Given the description of an element on the screen output the (x, y) to click on. 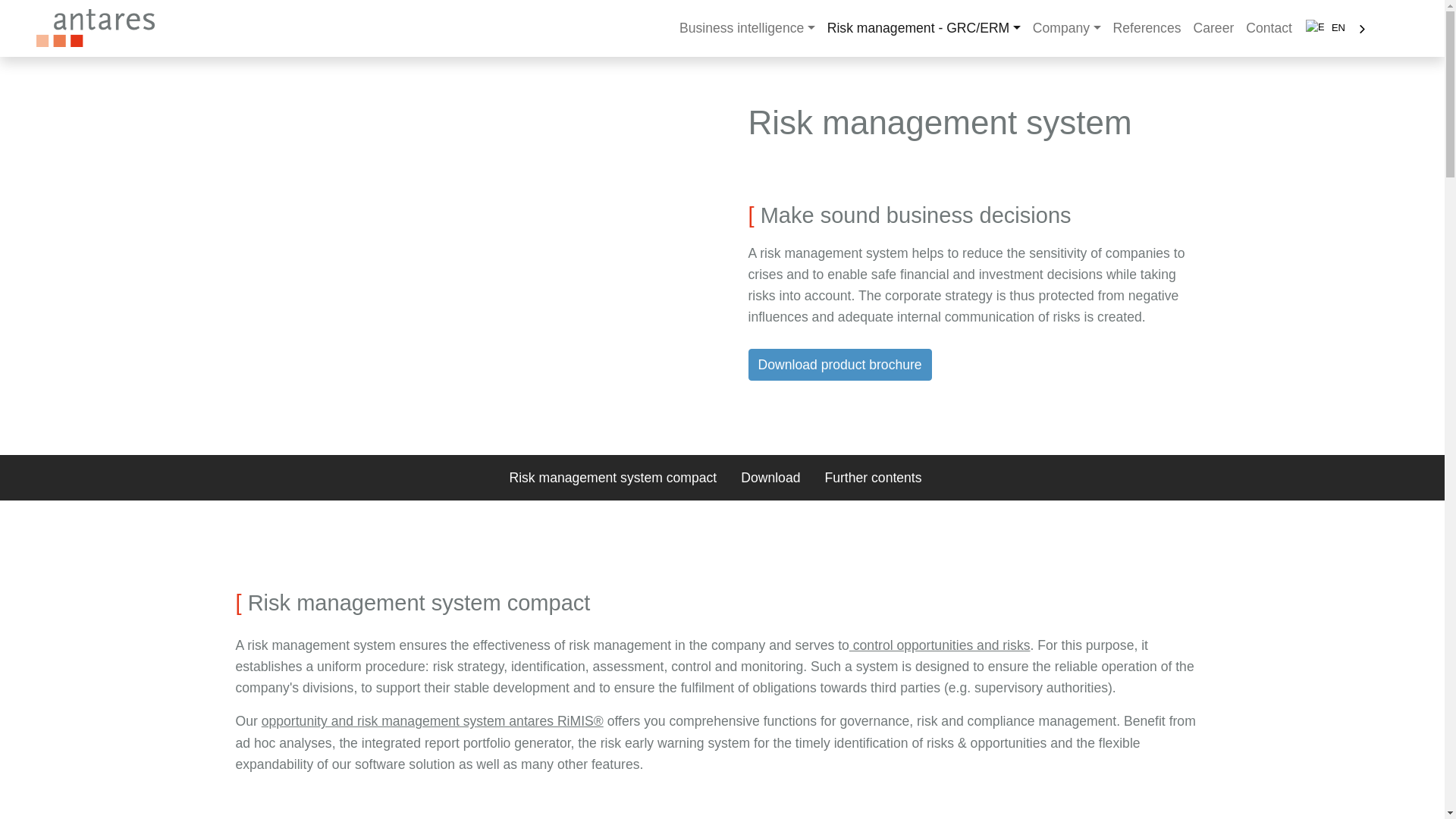
Contact (1269, 28)
Career (1214, 28)
Business intelligence (746, 28)
Download product brochure (839, 364)
References (1147, 28)
Further contents (872, 477)
control opportunities and risks (939, 645)
Company (1066, 28)
Risk management system compact (612, 477)
EN (1336, 28)
Download (770, 477)
